Given the description of an element on the screen output the (x, y) to click on. 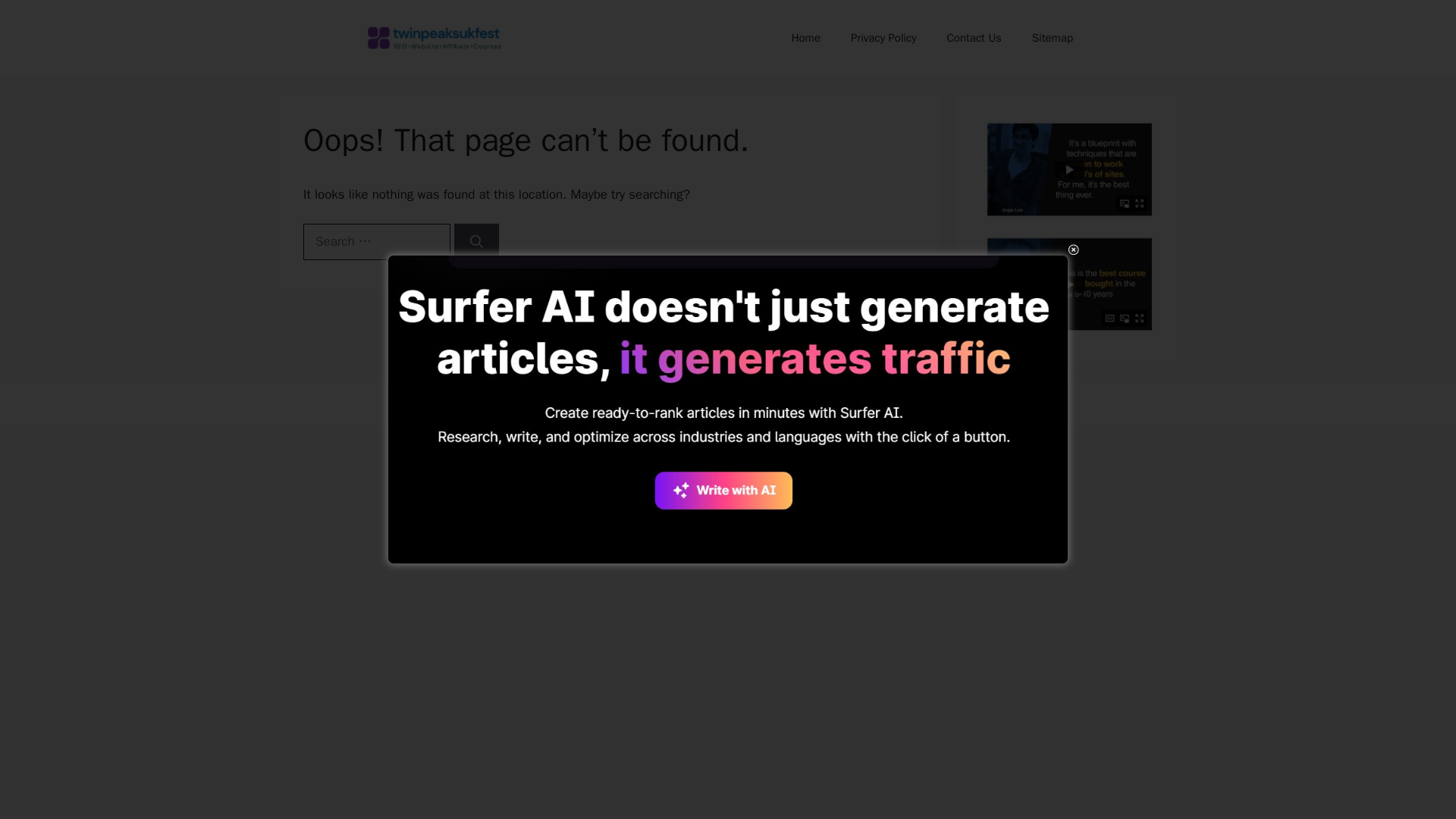
Privacy Policy (883, 37)
Close (1072, 249)
Home (805, 37)
Sitemap (1051, 37)
Search for: (375, 241)
Contact Us (973, 37)
